Given the description of an element on the screen output the (x, y) to click on. 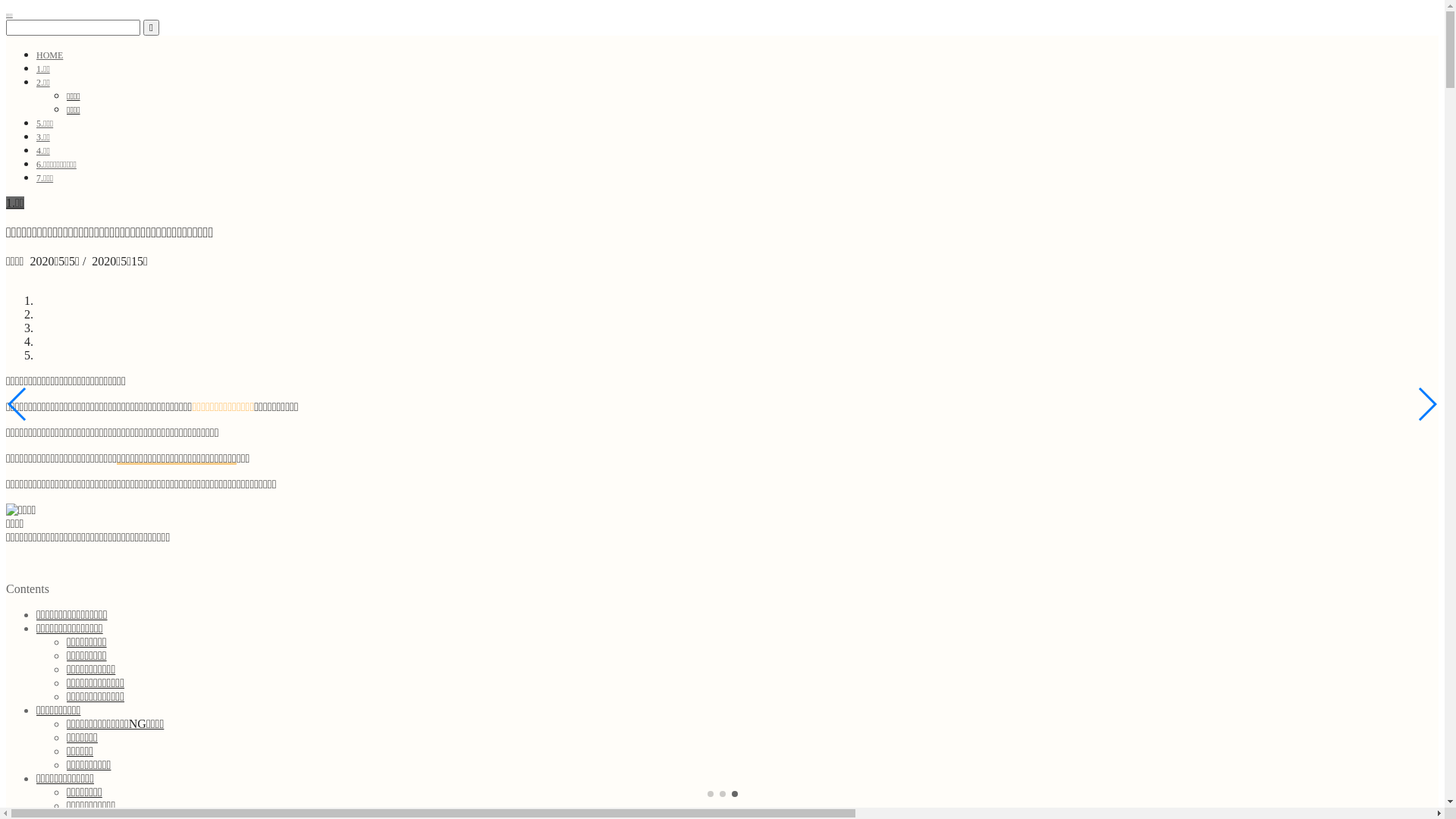
HOME Element type: text (49, 55)
